Given the description of an element on the screen output the (x, y) to click on. 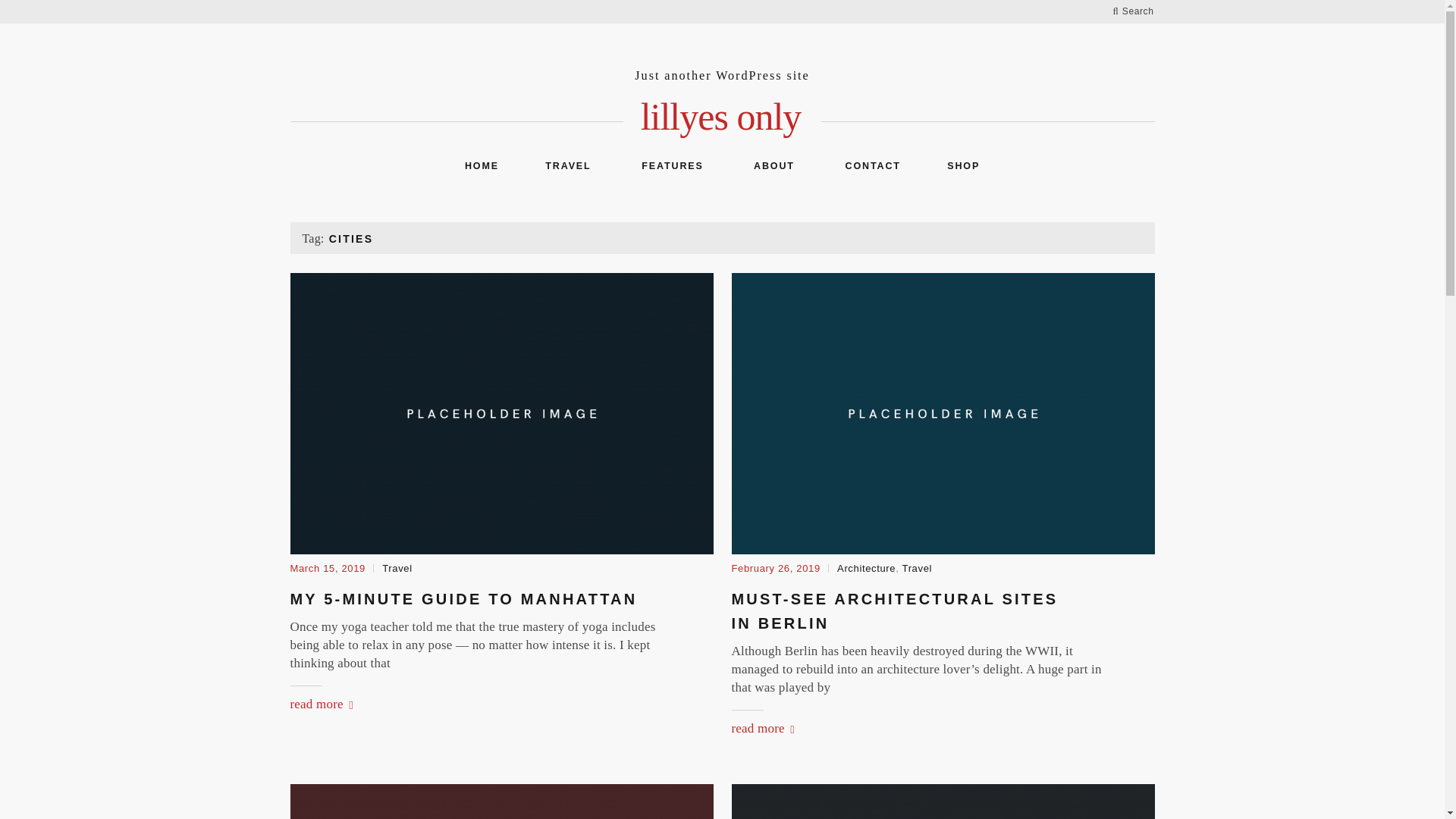
Search (1133, 11)
HOME (481, 165)
 FEATURES (670, 165)
Home (481, 165)
MUST-SEE ARCHITECTURAL SITES IN BERLIN (894, 610)
Travel (917, 568)
About (772, 165)
February 26, 2019 (774, 568)
Features (670, 165)
March 15, 2019 (327, 568)
TRAVEL (567, 165)
lillyes only (722, 117)
Architecture (866, 568)
Contact (870, 165)
 ABOUT (772, 165)
